Given the description of an element on the screen output the (x, y) to click on. 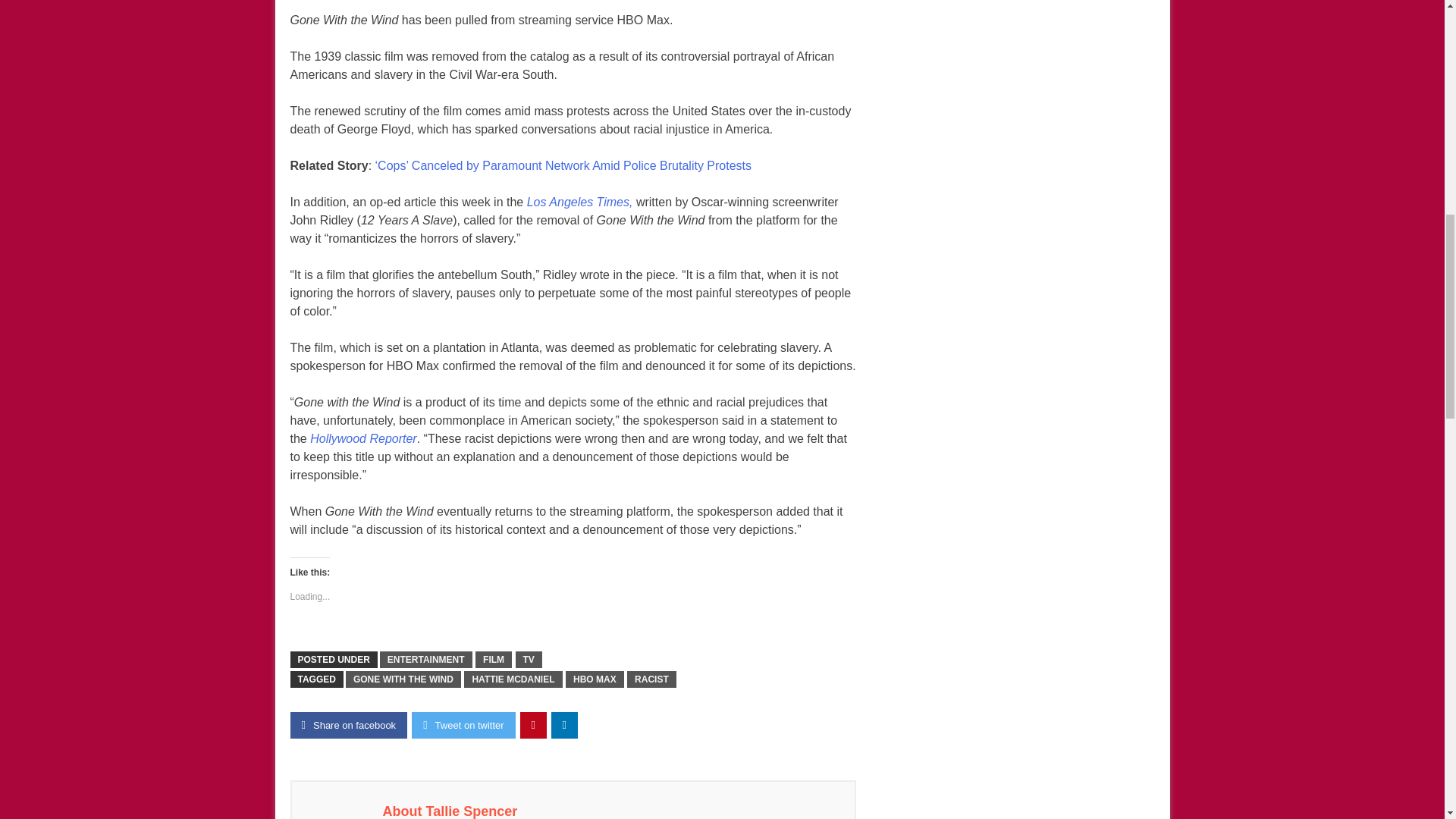
Tweet on twitter (463, 724)
GONE WITH THE WIND (403, 678)
Share on facebook (348, 724)
Hollywood Reporter (363, 438)
RACIST (652, 678)
HBO MAX (595, 678)
FILM (494, 659)
ENTERTAINMENT (425, 659)
Los Angeles Times, (580, 202)
TV (528, 659)
HATTIE MCDANIEL (513, 678)
